Given the description of an element on the screen output the (x, y) to click on. 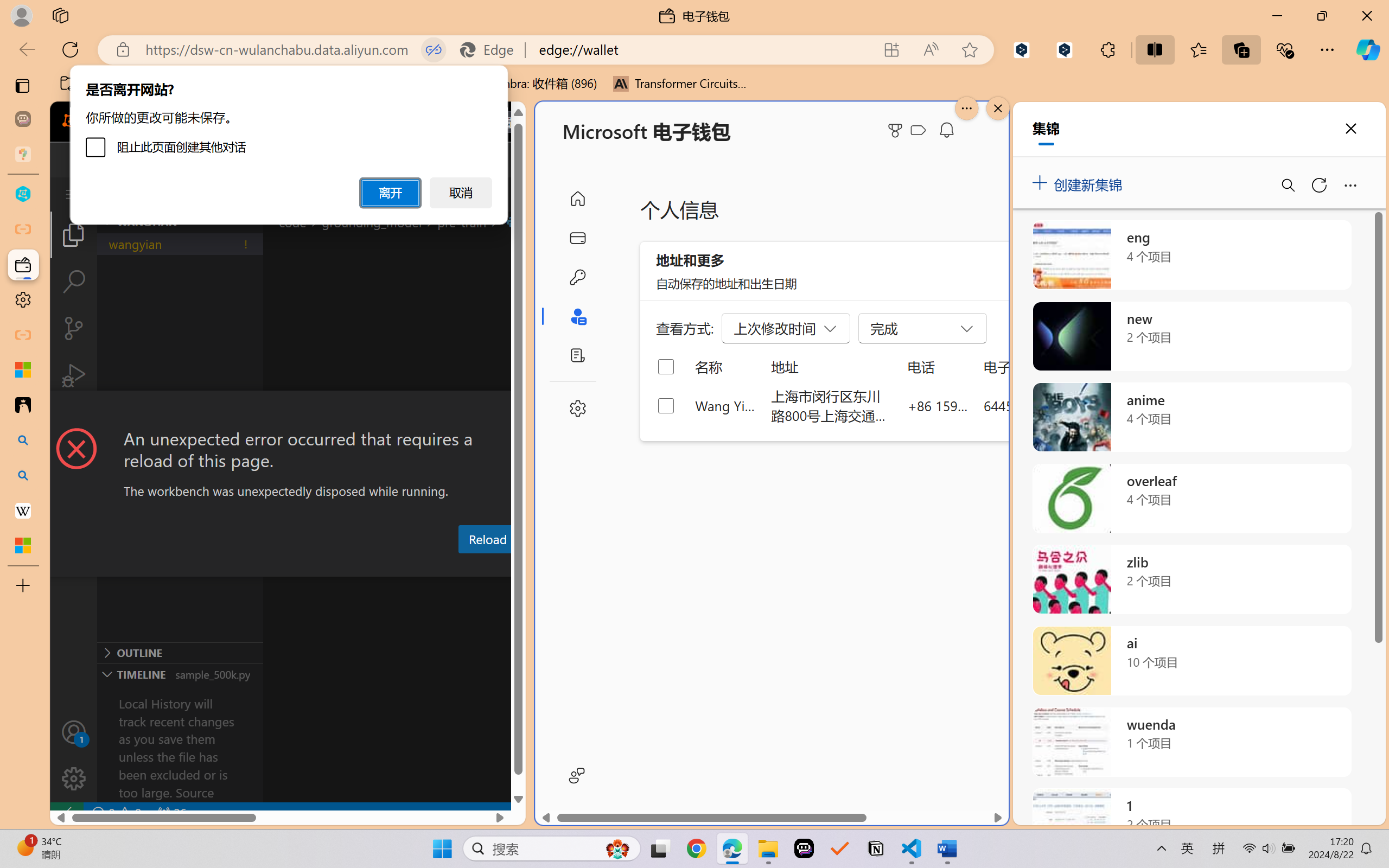
No Problems (115, 812)
Adjust indents and spacing - Microsoft Support (22, 369)
Transformer Circuits Thread (680, 83)
Earth - Wikipedia (22, 510)
Accounts - Sign in requested (73, 732)
Class: actions-container (287, 410)
